Given the description of an element on the screen output the (x, y) to click on. 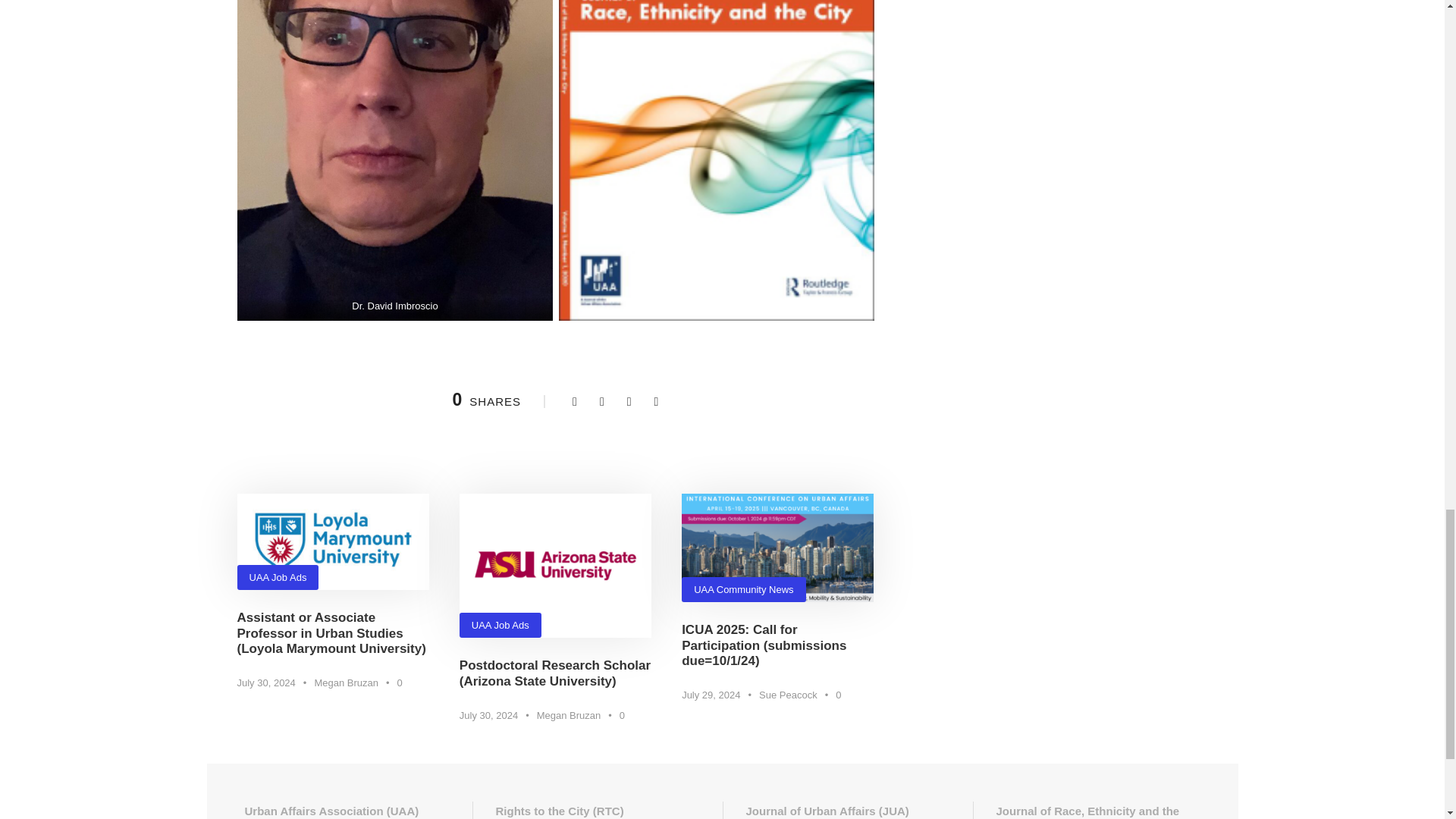
Loyola Marymount University (331, 541)
Posts by Megan Bruzan (346, 682)
Arizona State University (555, 565)
Posts by Megan Bruzan (569, 715)
Posts by Sue Peacock (787, 695)
